Given the description of an element on the screen output the (x, y) to click on. 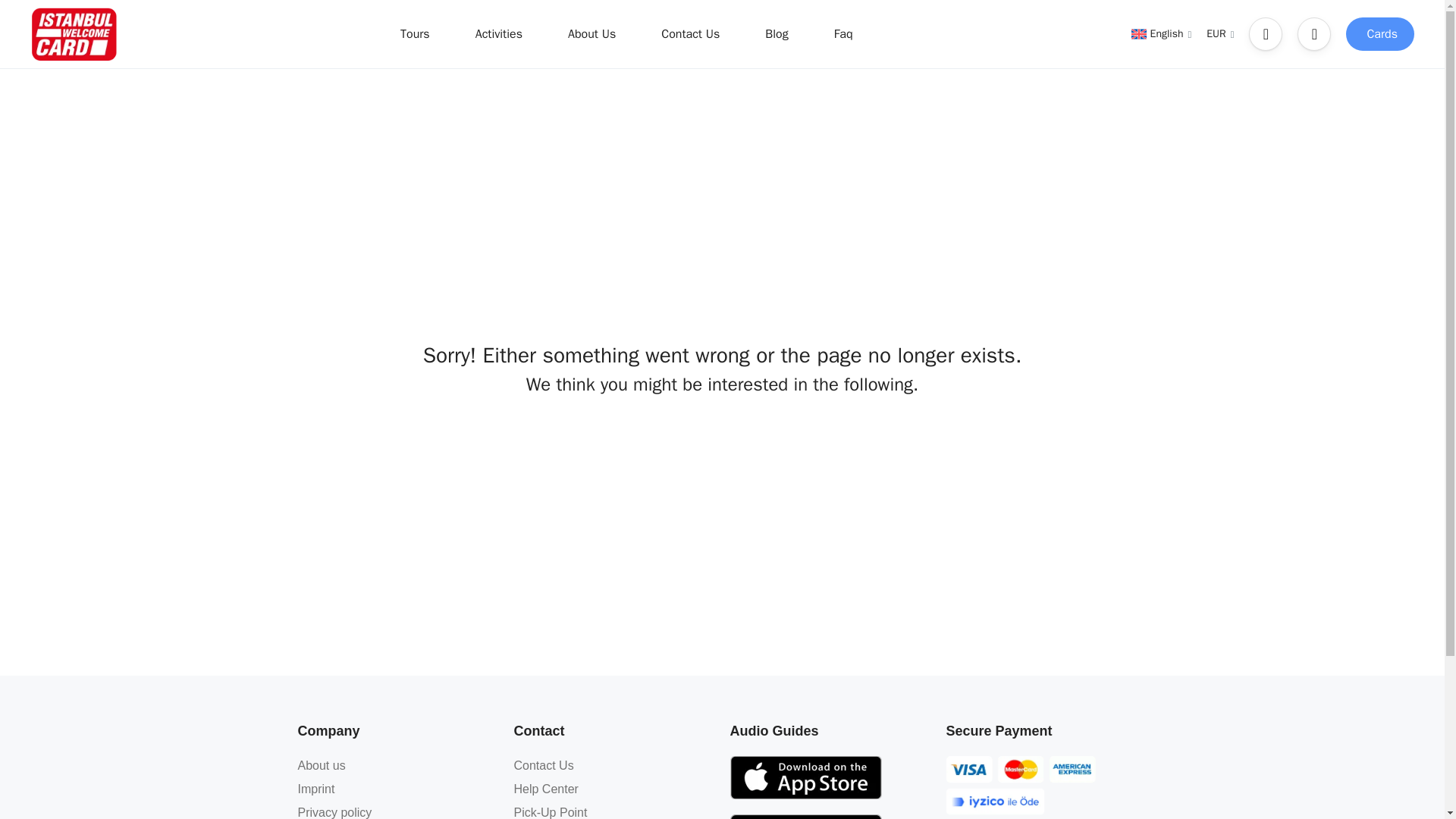
Imprint (315, 788)
Pick-Up Point (550, 812)
EUR (1220, 33)
Activities (498, 33)
Faq (843, 33)
Contact Us (690, 33)
Contact Us (543, 765)
Help Center (545, 788)
Cards (1379, 33)
Privacy policy (334, 812)
About us (321, 765)
About Us (591, 33)
Blog (776, 33)
English (1161, 33)
Privacy policy (334, 812)
